Given the description of an element on the screen output the (x, y) to click on. 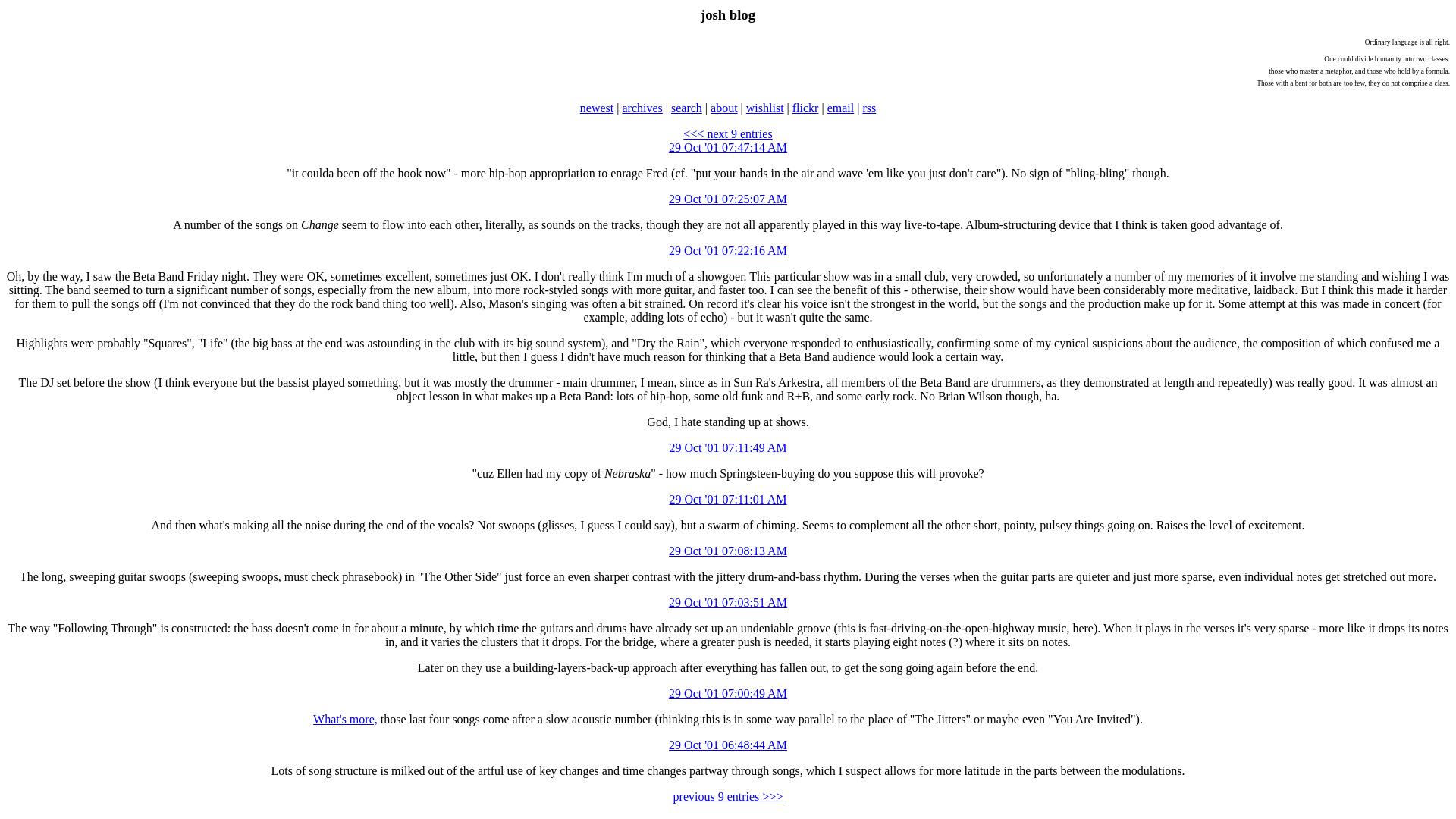
email (840, 107)
29 Oct '01 07:08:13 AM (727, 550)
flickr (805, 107)
rss (868, 107)
What's more, (345, 718)
29 Oct '01 07:22:16 AM (727, 250)
29 Oct '01 07:11:49 AM (727, 447)
29 Oct '01 07:03:51 AM (727, 602)
29 Oct '01 07:47:14 AM (727, 146)
about (724, 107)
29 Oct '01 06:48:44 AM (727, 744)
wishlist (764, 107)
archives (641, 107)
newest (595, 107)
29 Oct '01 07:00:49 AM (727, 693)
